Given the description of an element on the screen output the (x, y) to click on. 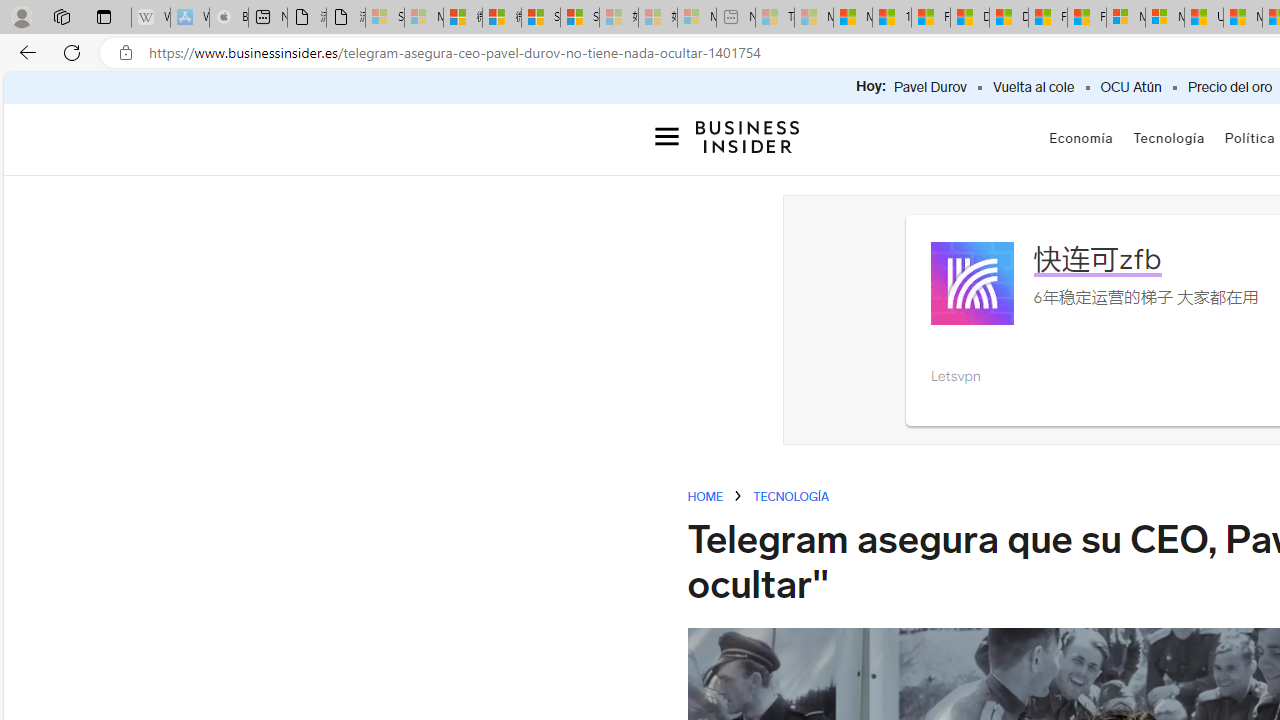
Microsoft account | Account Checkup - Sleeping (696, 17)
